Given the description of an element on the screen output the (x, y) to click on. 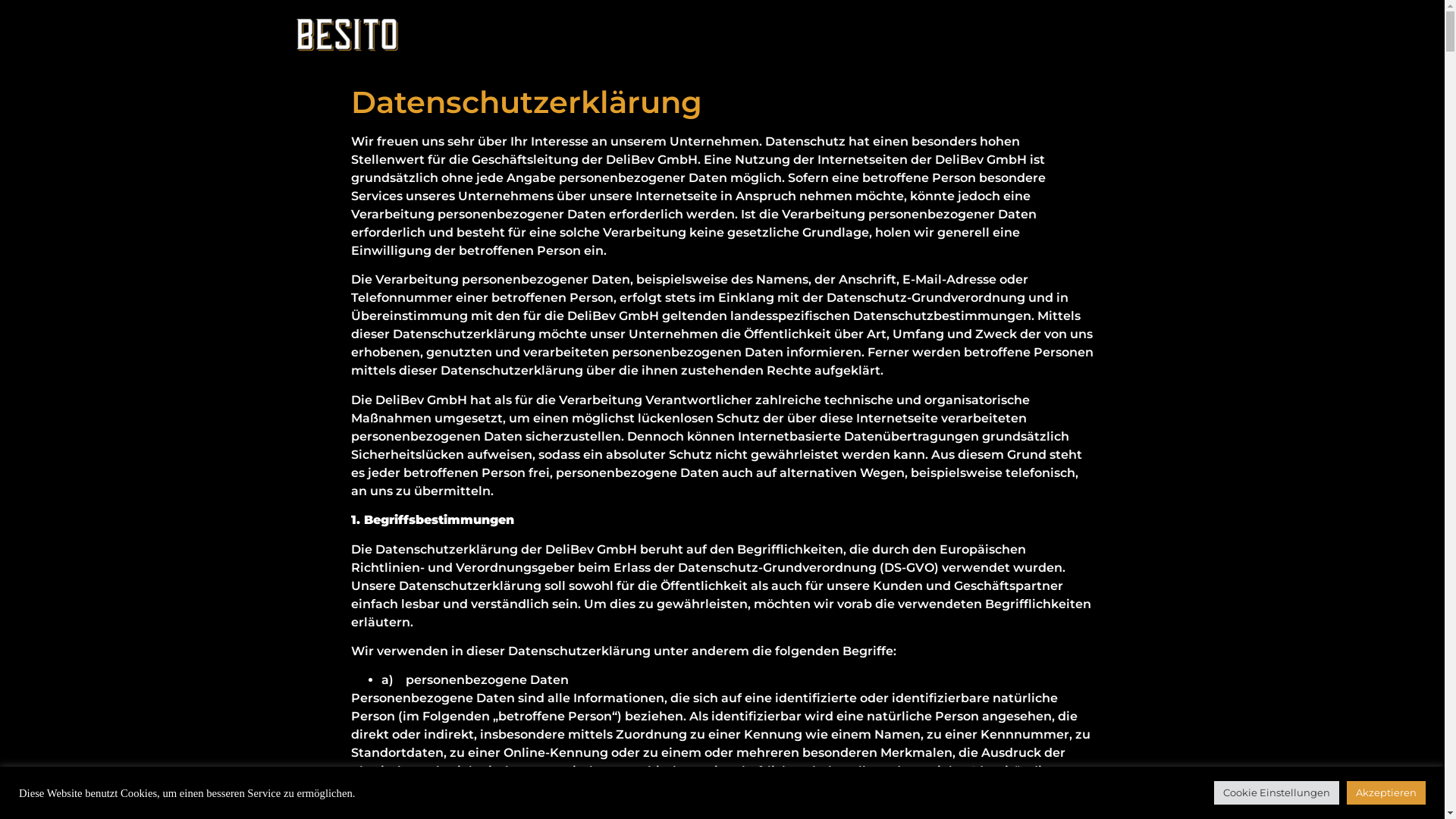
Akzeptieren Element type: text (1385, 792)
Cookie Einstellungen Element type: text (1276, 792)
